Given the description of an element on the screen output the (x, y) to click on. 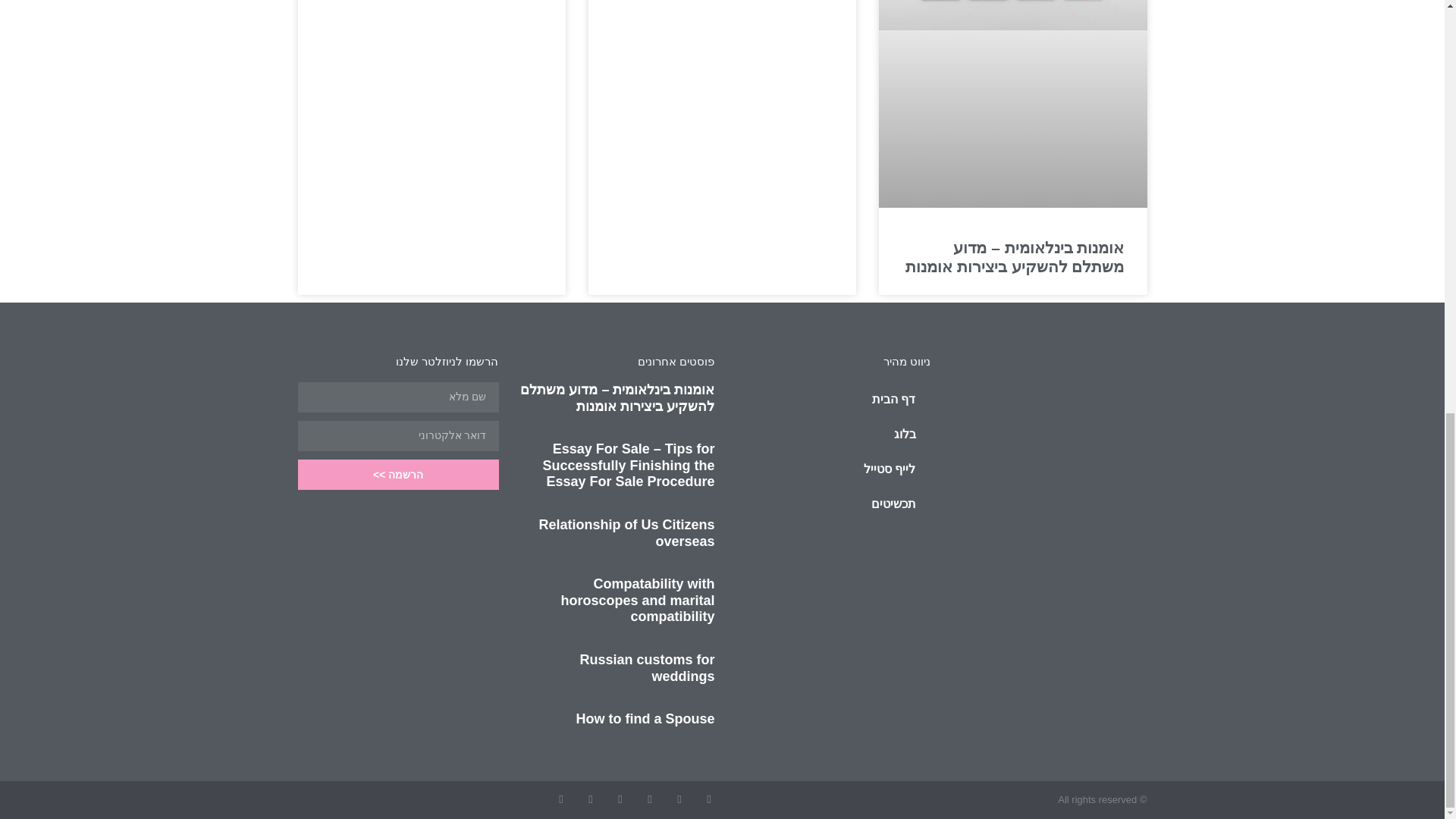
Relationship of Us Citizens overseas (626, 532)
Compatability with horoscopes and marital compatibility (637, 600)
How to find a Spouse (645, 718)
Russian customs for weddings (646, 667)
